Given the description of an element on the screen output the (x, y) to click on. 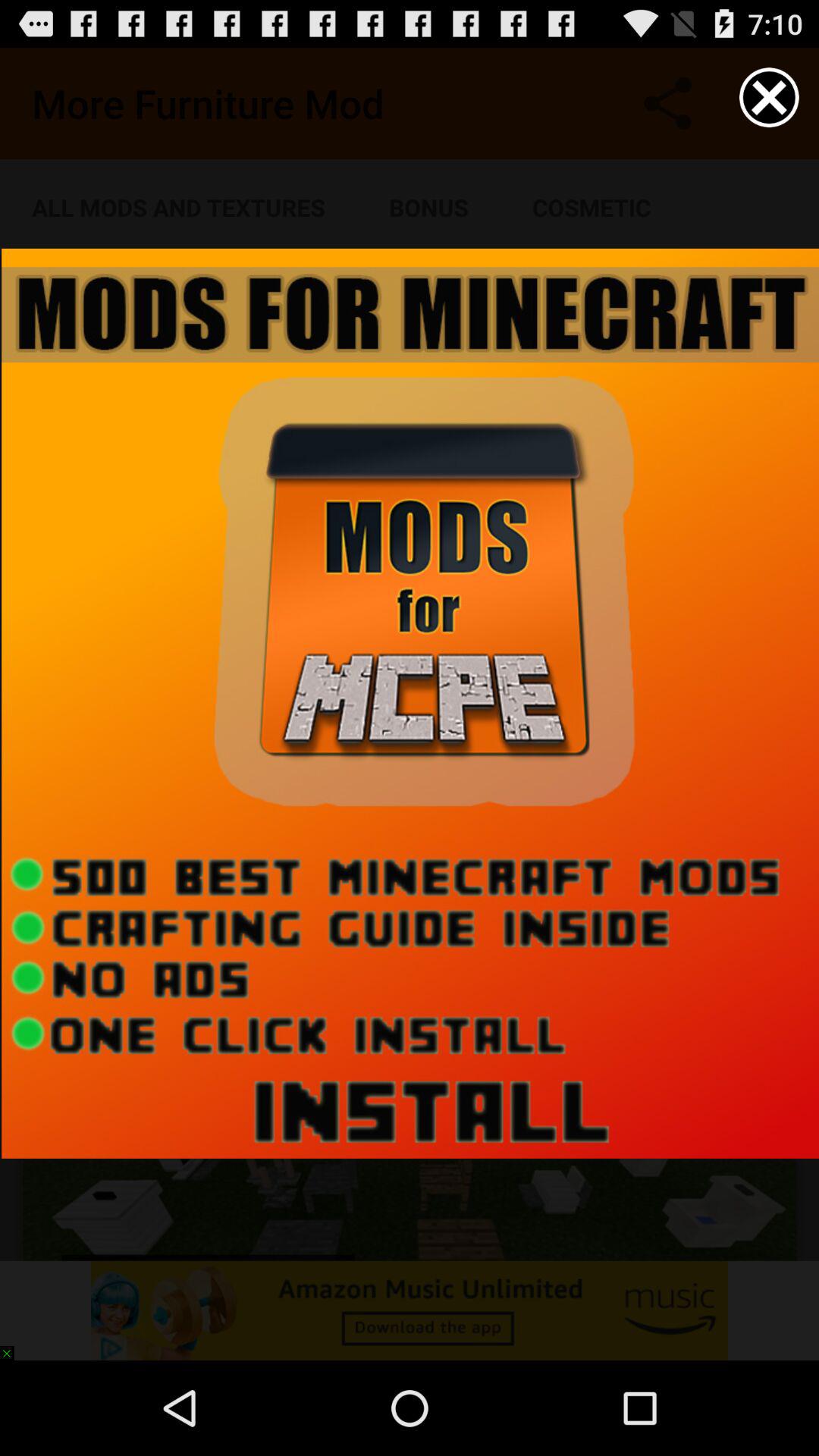
press the icon at the bottom left corner (14, 1346)
